Given the description of an element on the screen output the (x, y) to click on. 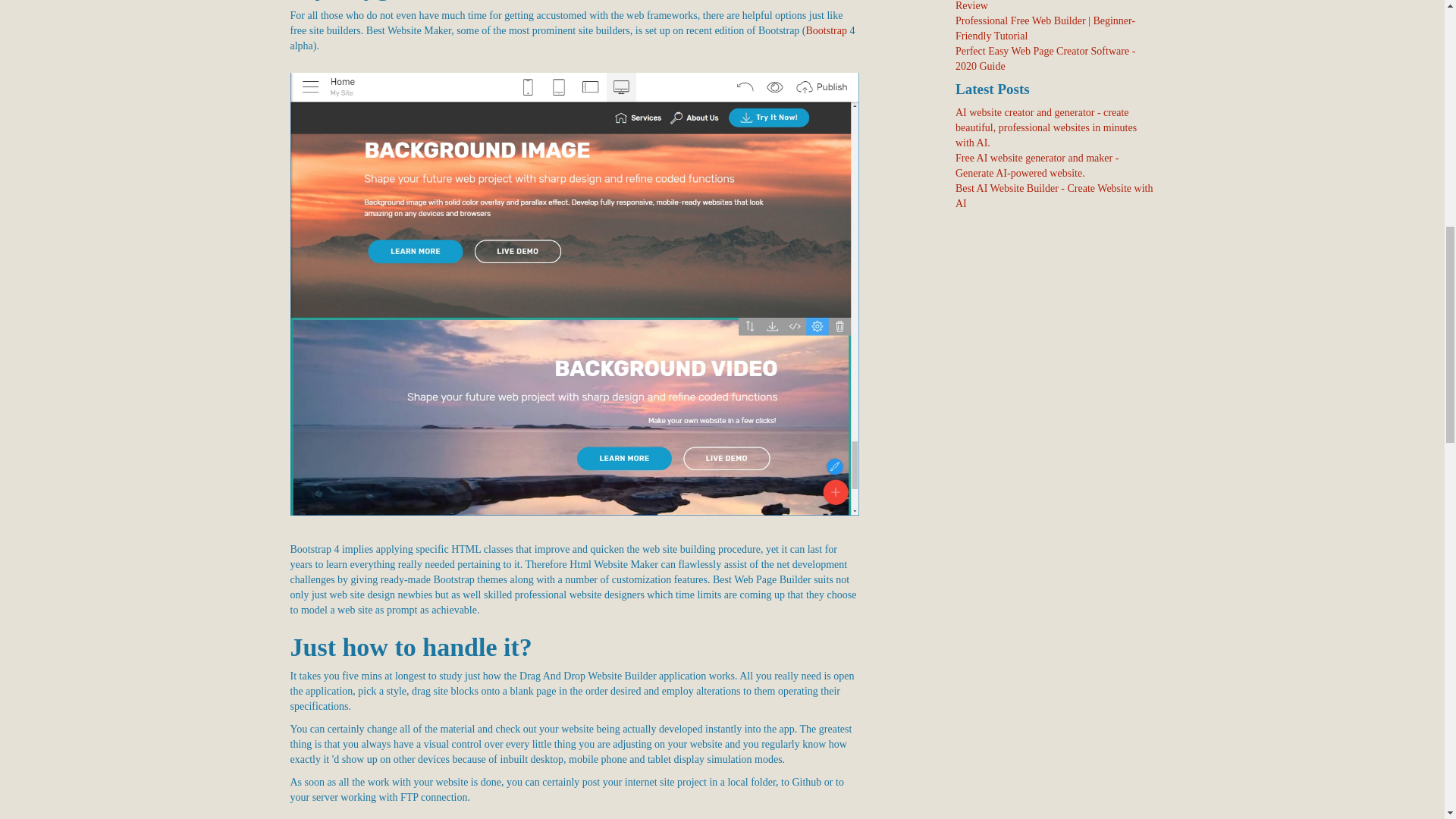
Best AI Website Builder - Create Website with AI (1054, 195)
Bootstrap (826, 30)
Exceptional Mobile Site Creator - In-Depth Review (1047, 5)
Perfect Easy Web Page Creator Software - 2020 Guide (1045, 58)
